Given the description of an element on the screen output the (x, y) to click on. 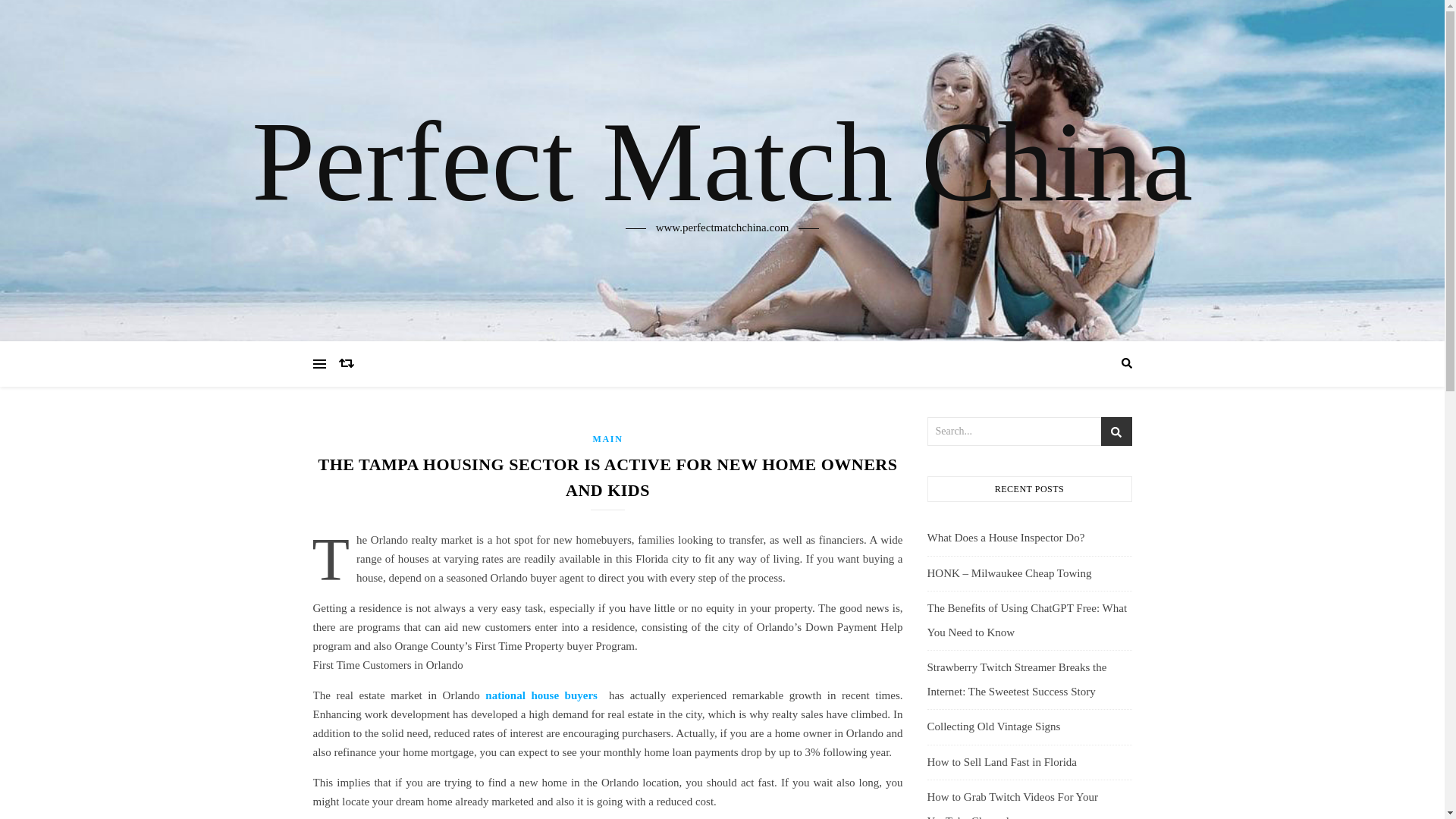
national house buyers (540, 695)
The Benefits of Using ChatGPT Free: What You Need to Know (1026, 619)
MAIN (607, 439)
How to Sell Land Fast in Florida (1001, 761)
st (1116, 431)
Collecting Old Vintage Signs (992, 726)
How to Grab Twitch Videos For Your YouTube Channel (1011, 805)
What Does a House Inspector Do? (1005, 537)
